Given the description of an element on the screen output the (x, y) to click on. 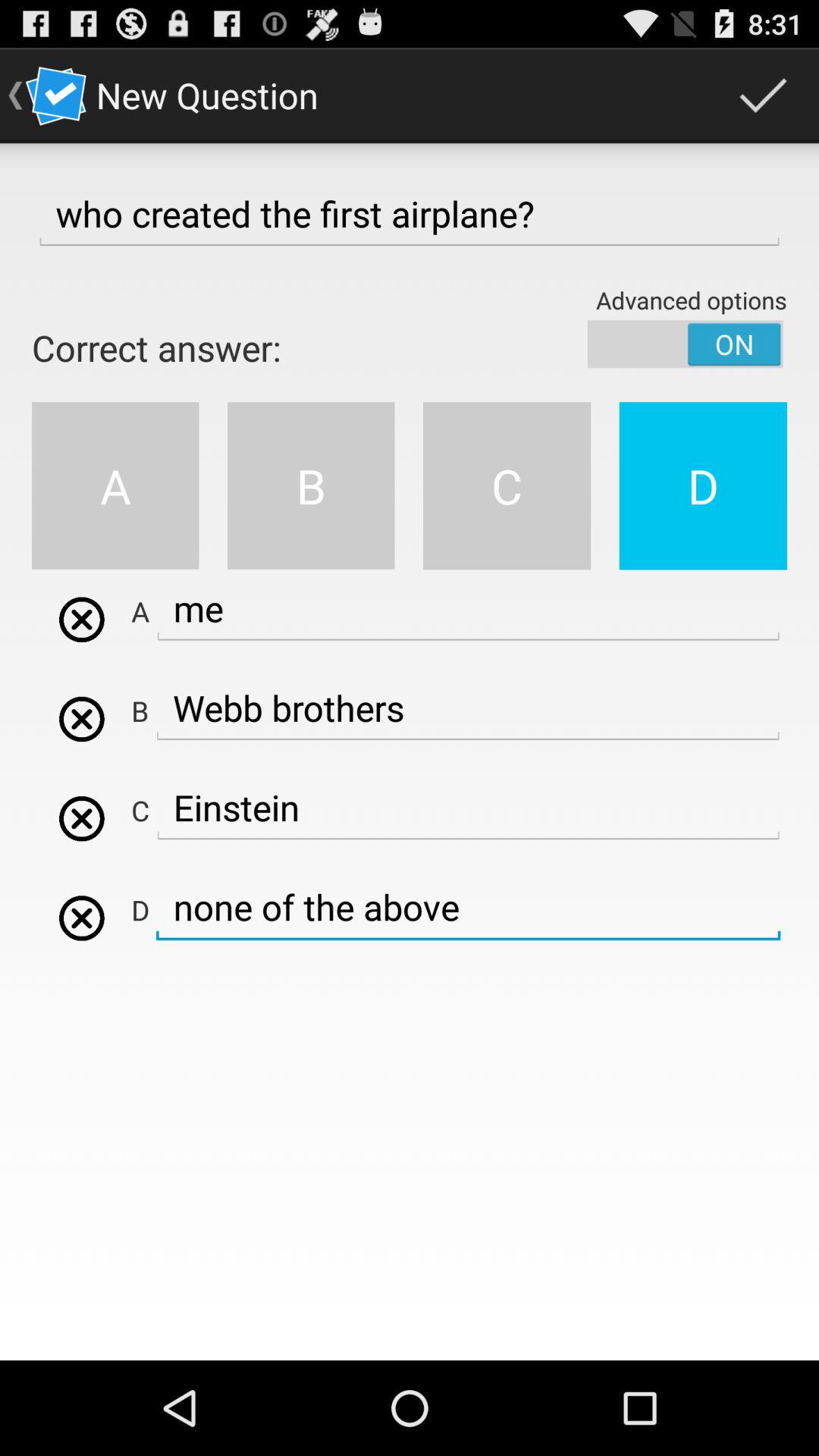
answer option (81, 619)
